Given the description of an element on the screen output the (x, y) to click on. 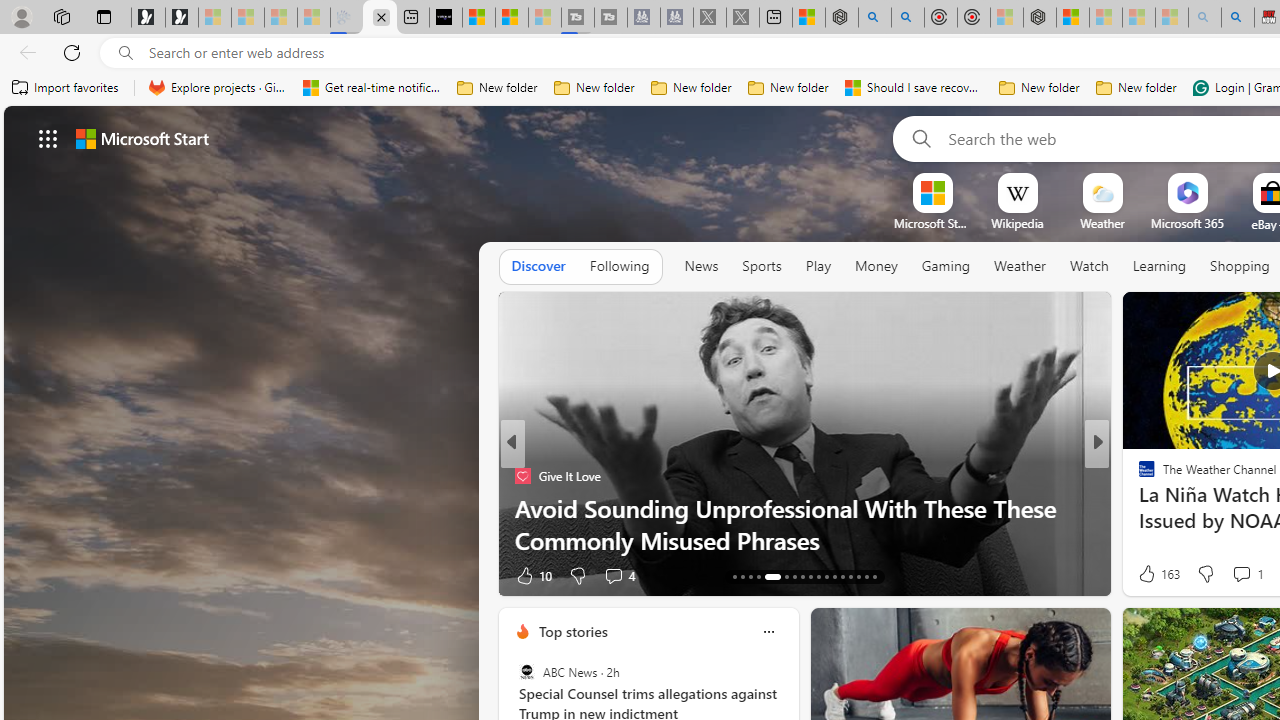
AutomationID: tab-51 (857, 576)
Dailymotion (1138, 475)
140 Like (1151, 574)
48 Like (1149, 574)
poe ++ standard - Search (908, 17)
Class: icon-img (768, 632)
AutomationID: tab-22 (818, 576)
Nordace - Nordace Siena Is Not An Ordinary Backpack (1039, 17)
AutomationID: tab-16 (757, 576)
